Given the description of an element on the screen output the (x, y) to click on. 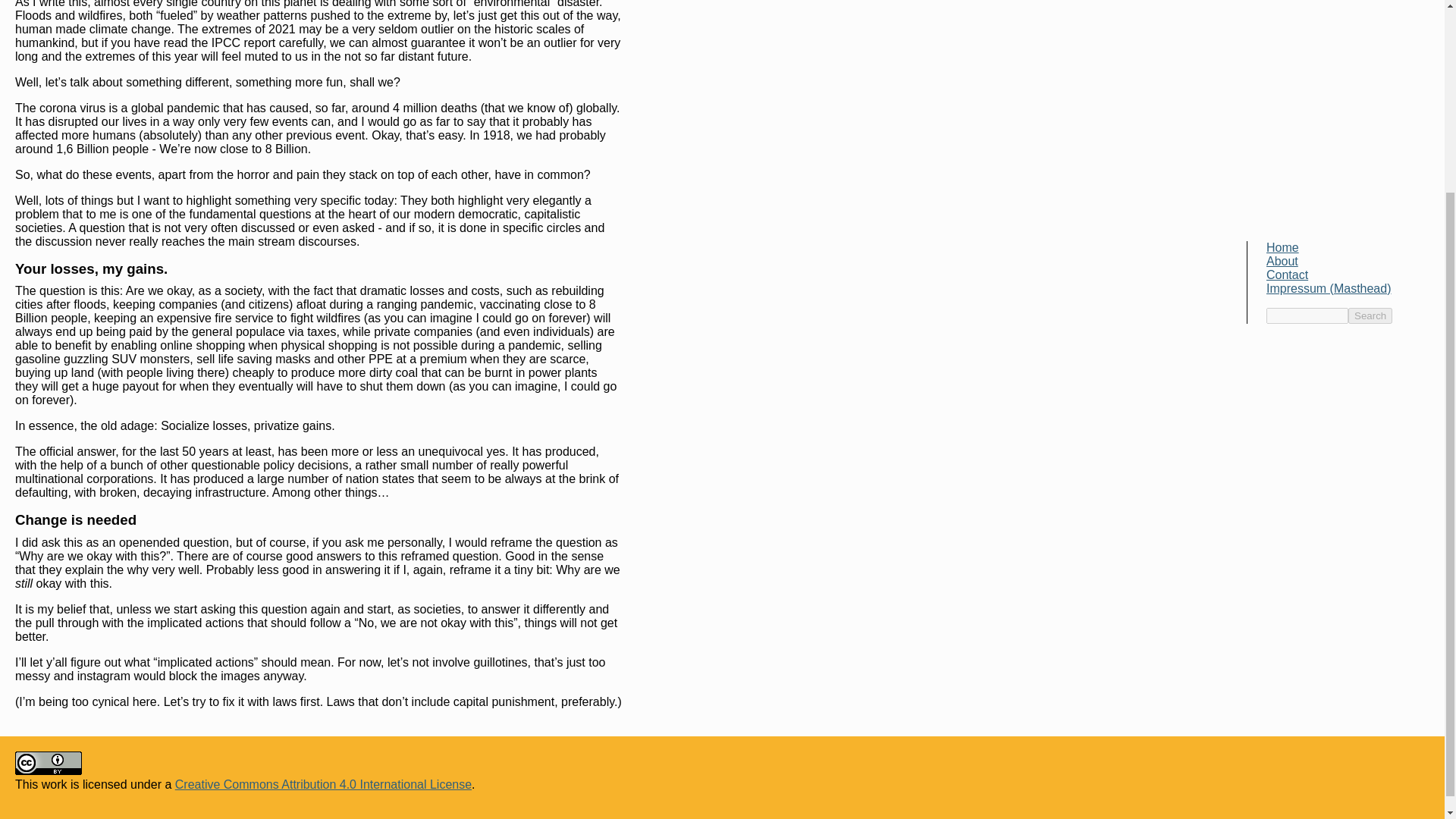
search text (1307, 69)
Search (1369, 69)
About (1282, 15)
Creative Commons Attribution 4.0 International License (322, 784)
Home (1282, 4)
start search (1369, 69)
Contact (1286, 29)
